Given the description of an element on the screen output the (x, y) to click on. 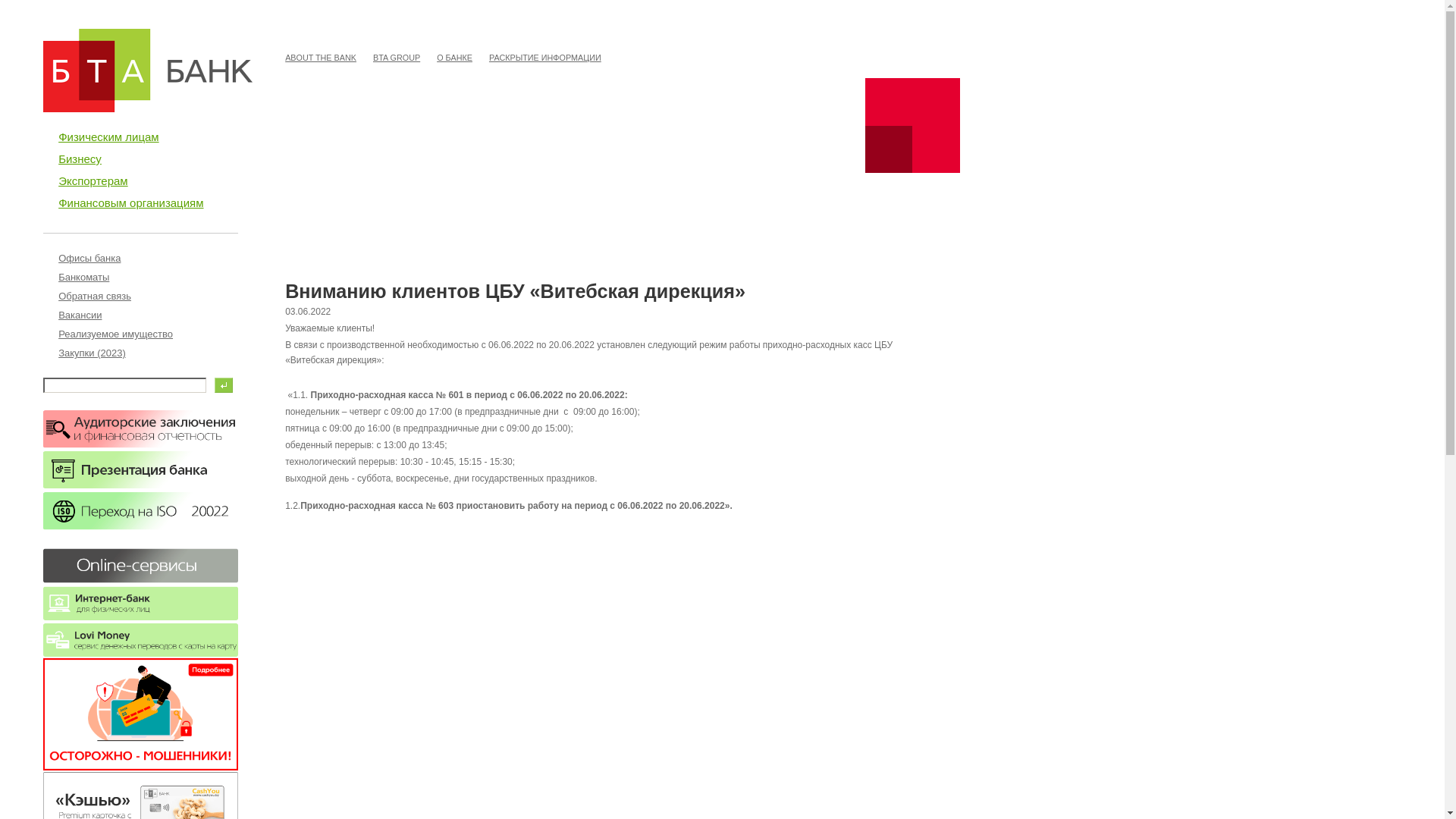
ABOUT THE BANK Element type: text (320, 57)
BTA GROUP Element type: text (396, 57)
